Given the description of an element on the screen output the (x, y) to click on. 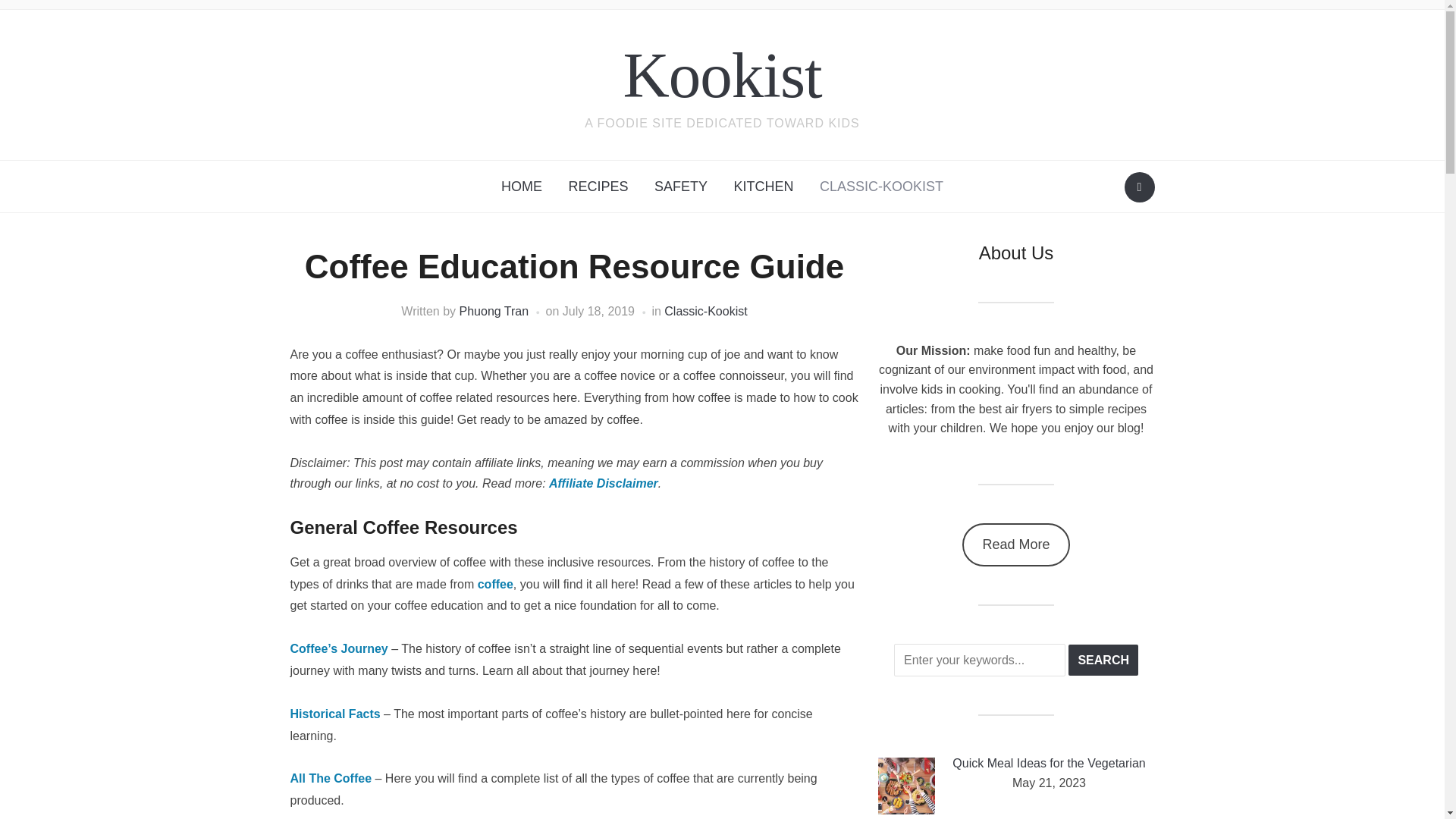
CLASSIC-KOOKIST (881, 186)
Search (1103, 660)
SAFETY (681, 186)
Affiliate Disclaimer (603, 482)
Phuong Tran (494, 310)
Search (1139, 186)
RECIPES (597, 186)
All The Coffee (330, 778)
KITCHEN (763, 186)
Search (1103, 660)
